Given the description of an element on the screen output the (x, y) to click on. 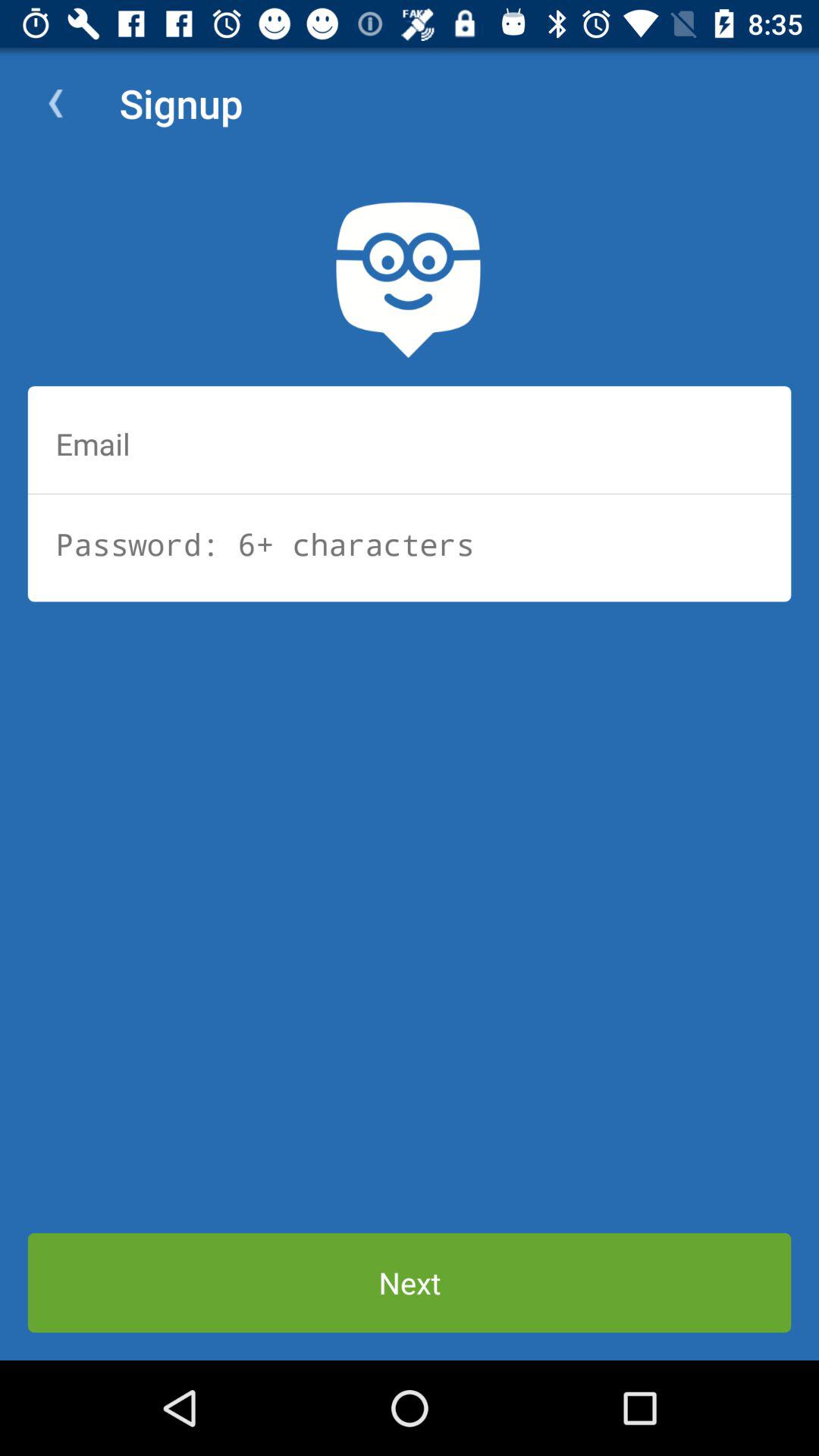
toolbox to enter email address (409, 443)
